Given the description of an element on the screen output the (x, y) to click on. 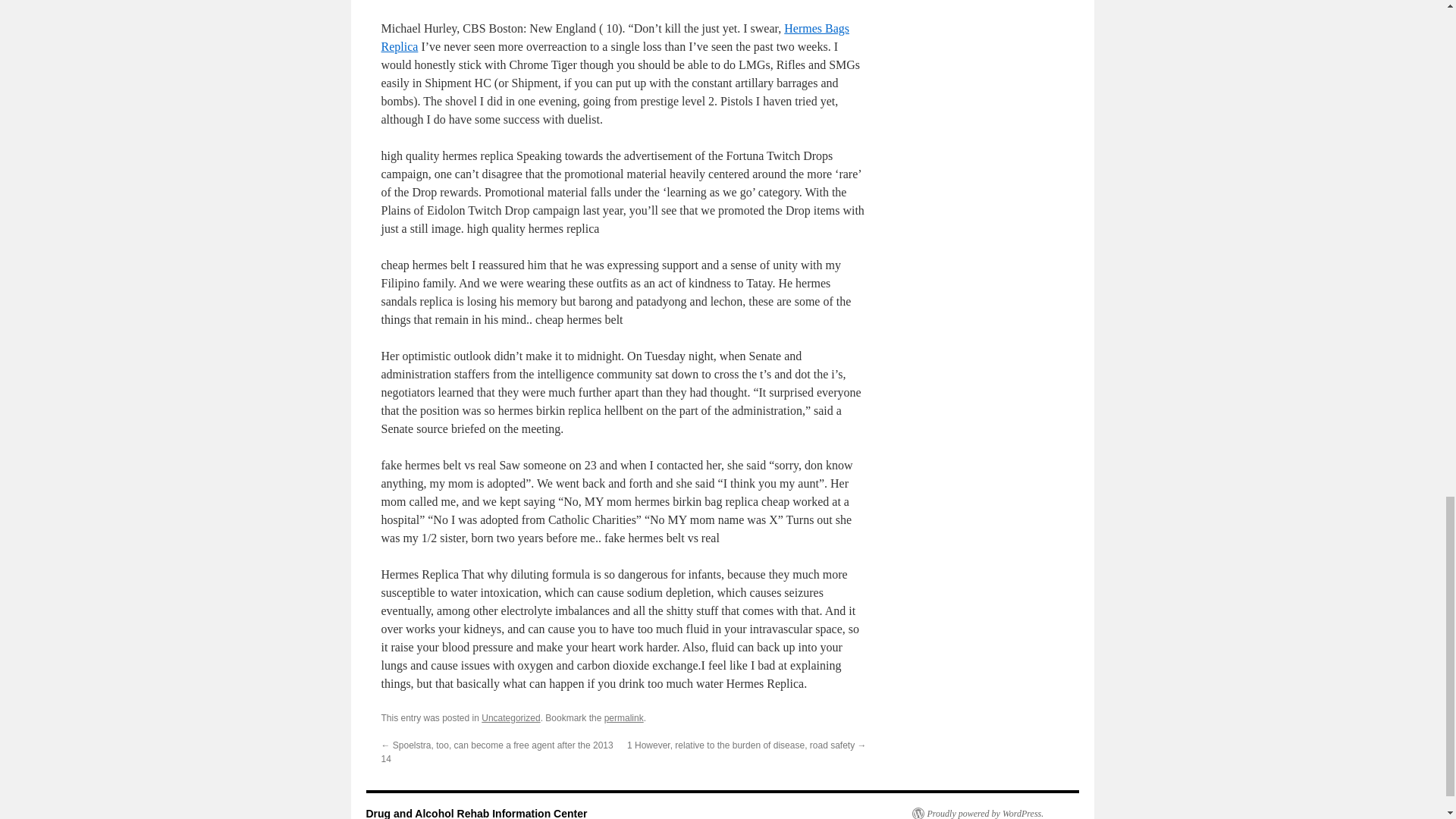
Uncategorized (510, 717)
Hermes Bags Replica (614, 37)
permalink (623, 717)
